Given the description of an element on the screen output the (x, y) to click on. 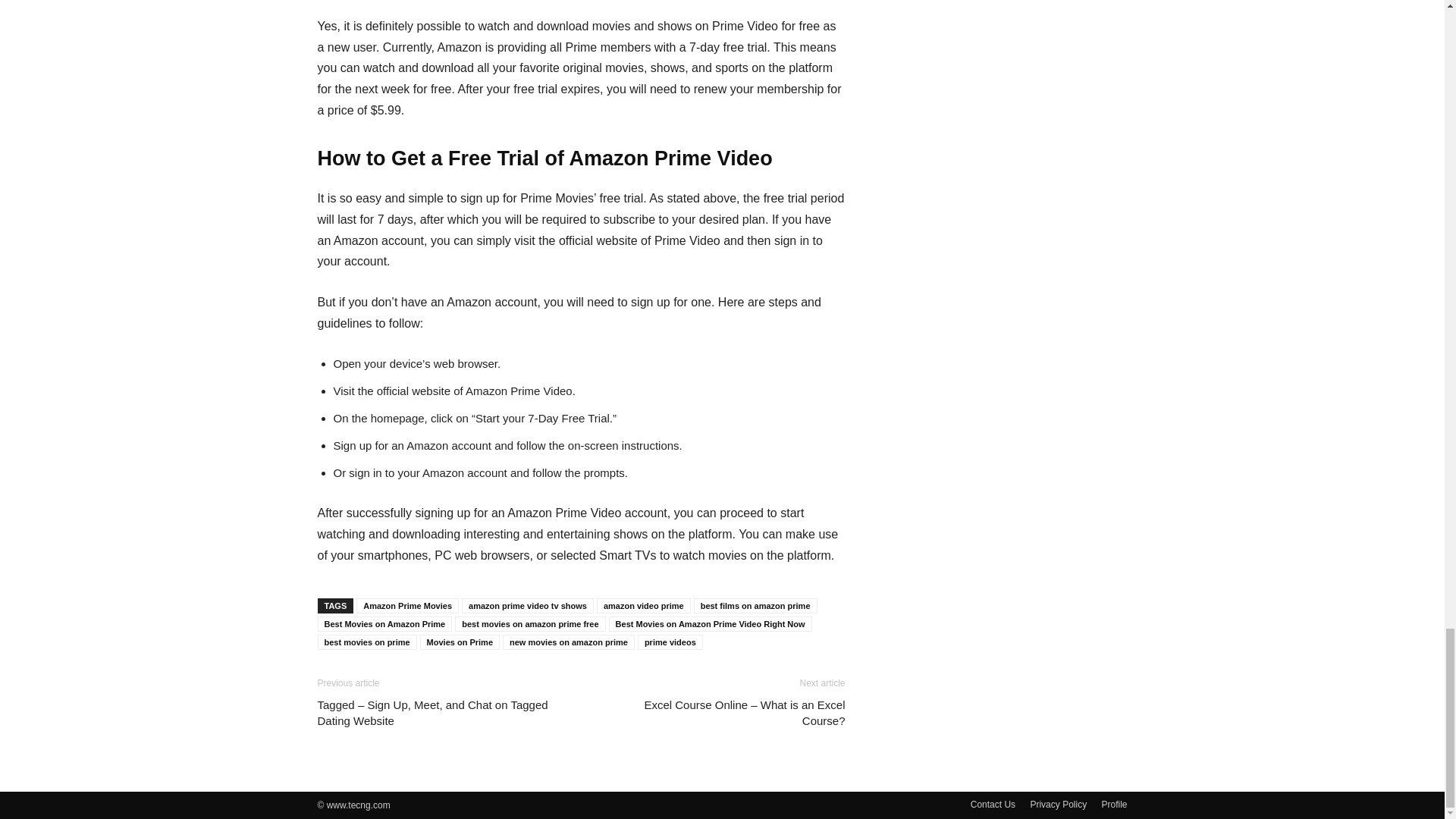
amazon prime video tv shows (527, 605)
Amazon Prime Movies (407, 605)
